Given the description of an element on the screen output the (x, y) to click on. 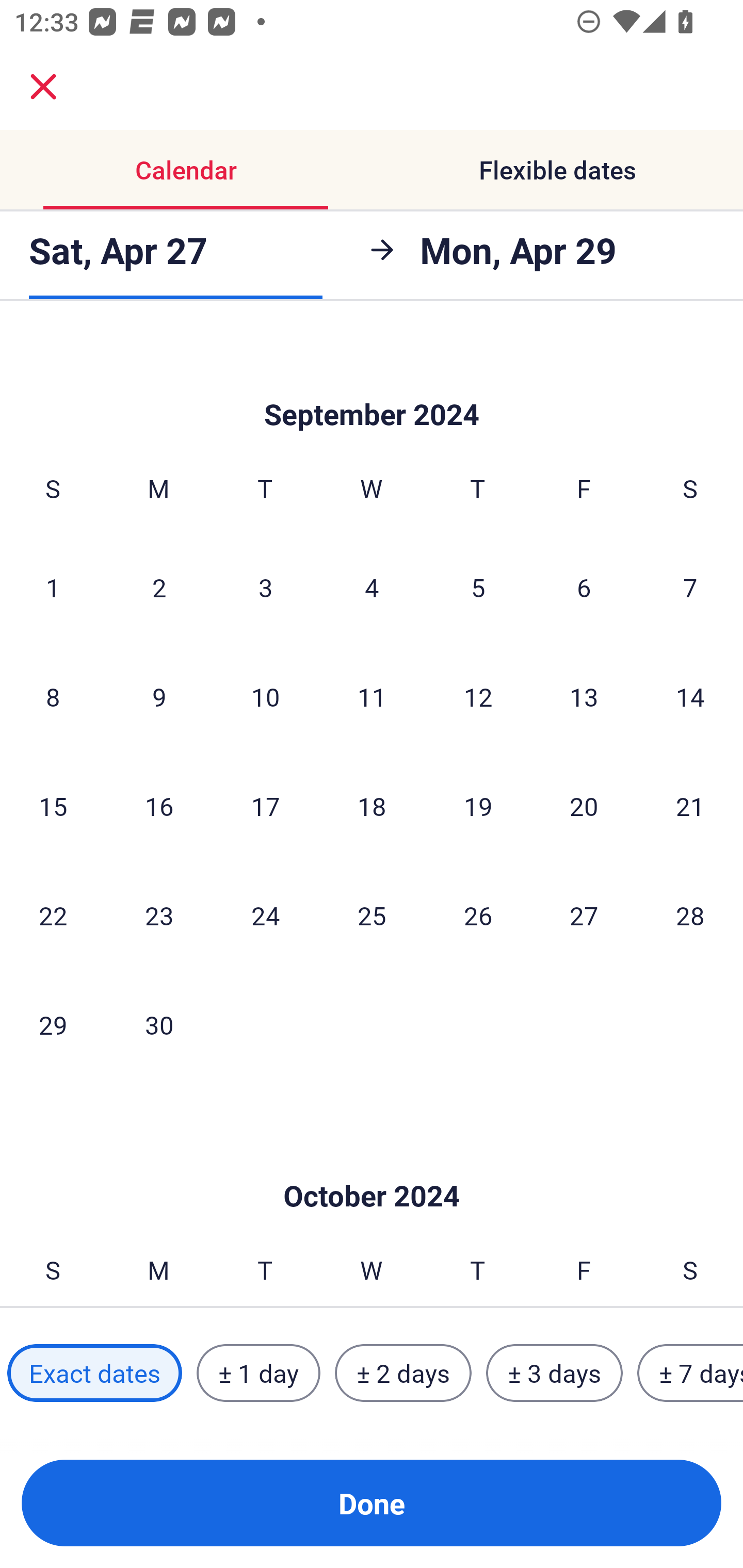
close. (43, 86)
Flexible dates (557, 170)
Skip to Done (371, 383)
1 Sunday, September 1, 2024 (53, 586)
2 Monday, September 2, 2024 (159, 586)
3 Tuesday, September 3, 2024 (265, 586)
4 Wednesday, September 4, 2024 (371, 586)
5 Thursday, September 5, 2024 (477, 586)
6 Friday, September 6, 2024 (584, 586)
7 Saturday, September 7, 2024 (690, 586)
8 Sunday, September 8, 2024 (53, 696)
9 Monday, September 9, 2024 (159, 696)
10 Tuesday, September 10, 2024 (265, 696)
11 Wednesday, September 11, 2024 (371, 696)
12 Thursday, September 12, 2024 (477, 696)
13 Friday, September 13, 2024 (584, 696)
14 Saturday, September 14, 2024 (690, 696)
15 Sunday, September 15, 2024 (53, 805)
16 Monday, September 16, 2024 (159, 805)
17 Tuesday, September 17, 2024 (265, 805)
18 Wednesday, September 18, 2024 (371, 805)
19 Thursday, September 19, 2024 (477, 805)
20 Friday, September 20, 2024 (584, 805)
21 Saturday, September 21, 2024 (690, 805)
22 Sunday, September 22, 2024 (53, 914)
23 Monday, September 23, 2024 (159, 914)
24 Tuesday, September 24, 2024 (265, 914)
25 Wednesday, September 25, 2024 (371, 914)
26 Thursday, September 26, 2024 (477, 914)
27 Friday, September 27, 2024 (584, 914)
28 Saturday, September 28, 2024 (690, 914)
29 Sunday, September 29, 2024 (53, 1024)
30 Monday, September 30, 2024 (159, 1024)
Skip to Done (371, 1164)
Exact dates (94, 1372)
± 1 day (258, 1372)
± 2 days (403, 1372)
± 3 days (553, 1372)
± 7 days (690, 1372)
Done (371, 1502)
